Given the description of an element on the screen output the (x, y) to click on. 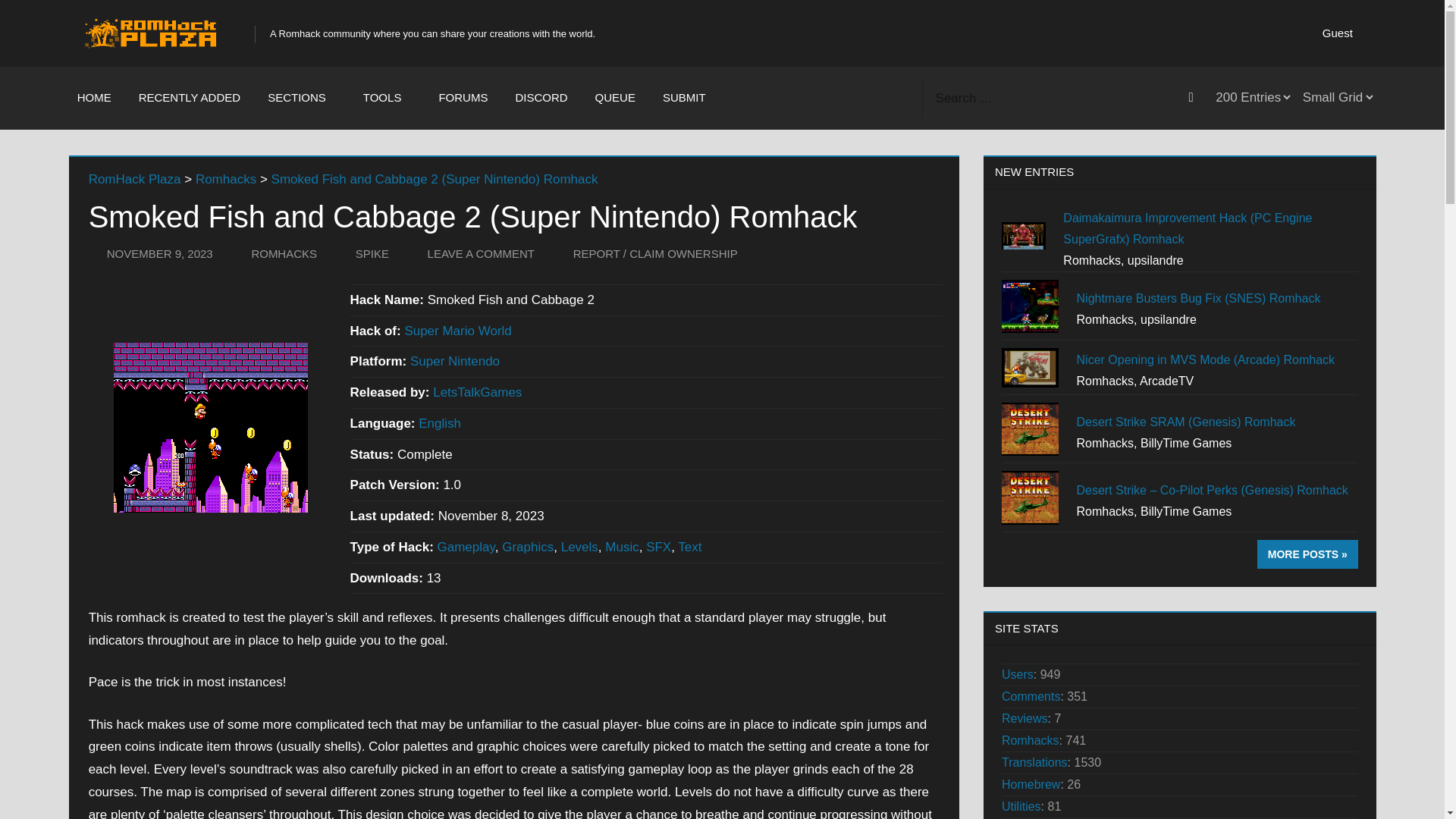
TOOLS (387, 97)
SECTIONS (301, 97)
ROMHACKS (283, 253)
RECENTLY ADDED (189, 97)
10:55 am (159, 253)
RomHack Plaza (134, 178)
HOME (94, 97)
LEAVE A COMMENT (481, 253)
QUEUE (614, 97)
Super Nintendo (454, 361)
